Given the description of an element on the screen output the (x, y) to click on. 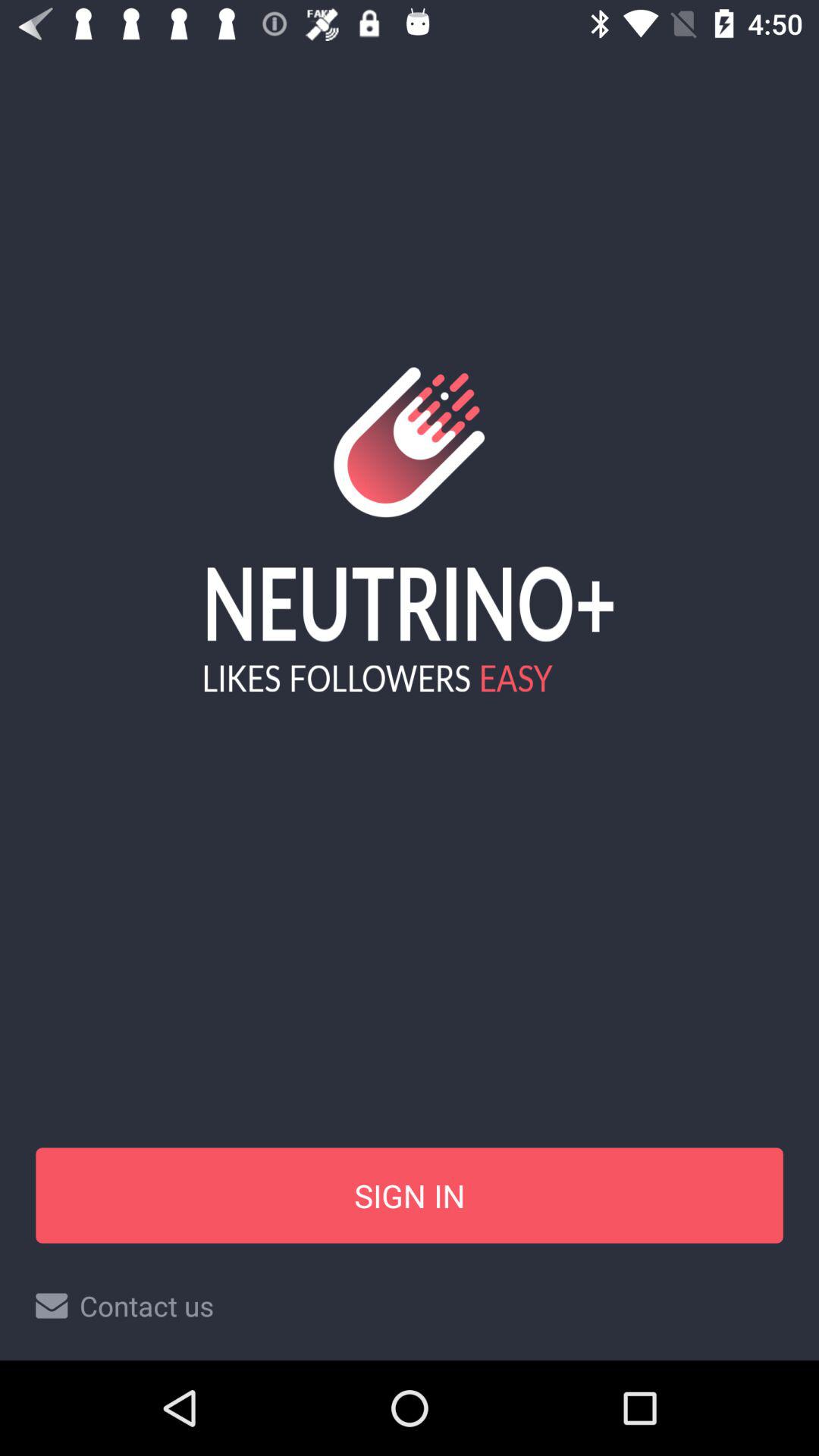
tap the sign in icon (409, 1195)
